Given the description of an element on the screen output the (x, y) to click on. 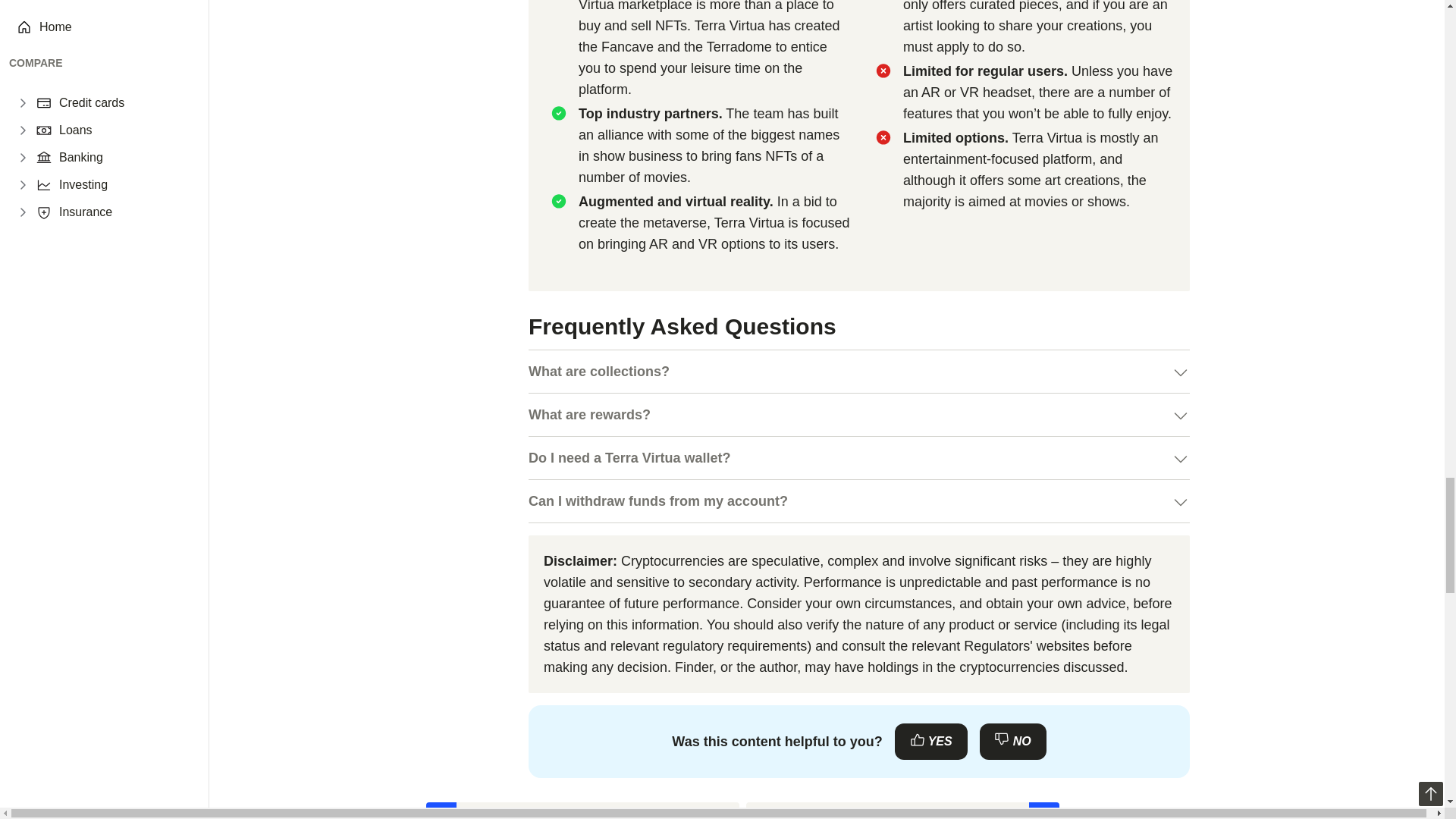
Cargo Guide (582, 810)
MegaCryptoPolis Guide (902, 810)
